Given the description of an element on the screen output the (x, y) to click on. 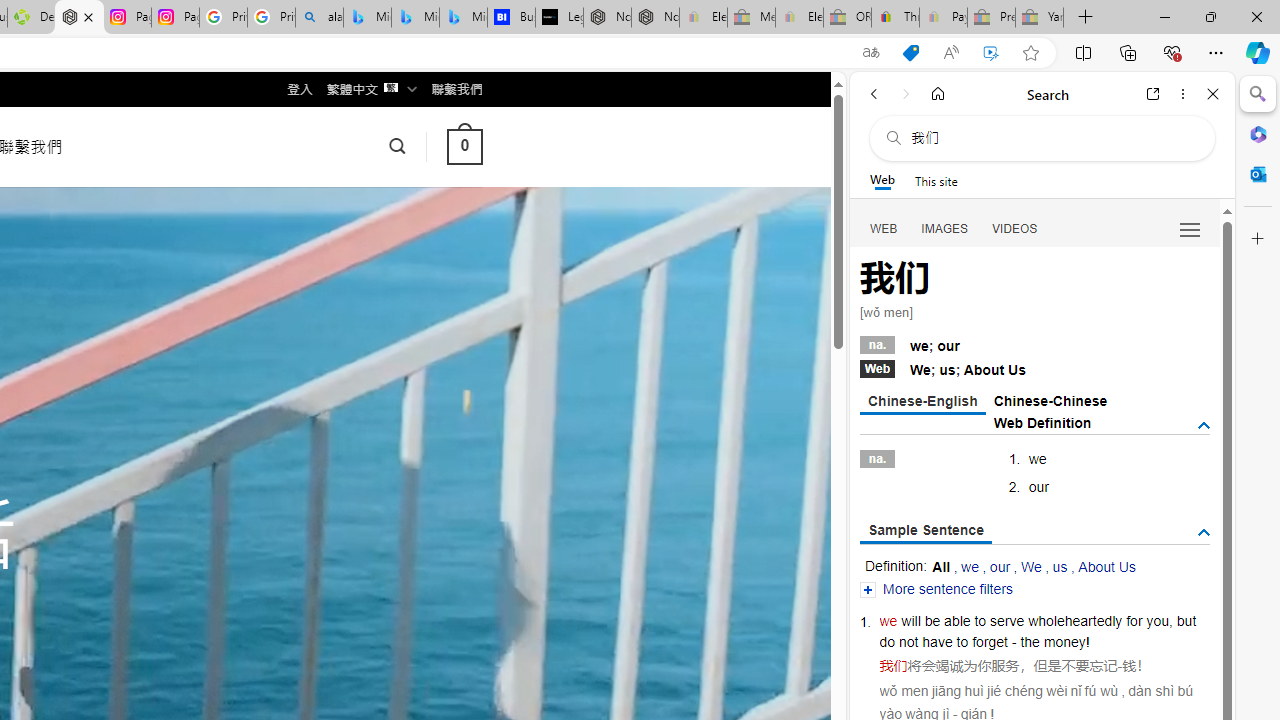
serve (1007, 620)
be (932, 620)
! (1087, 642)
money (1064, 642)
